Given the description of an element on the screen output the (x, y) to click on. 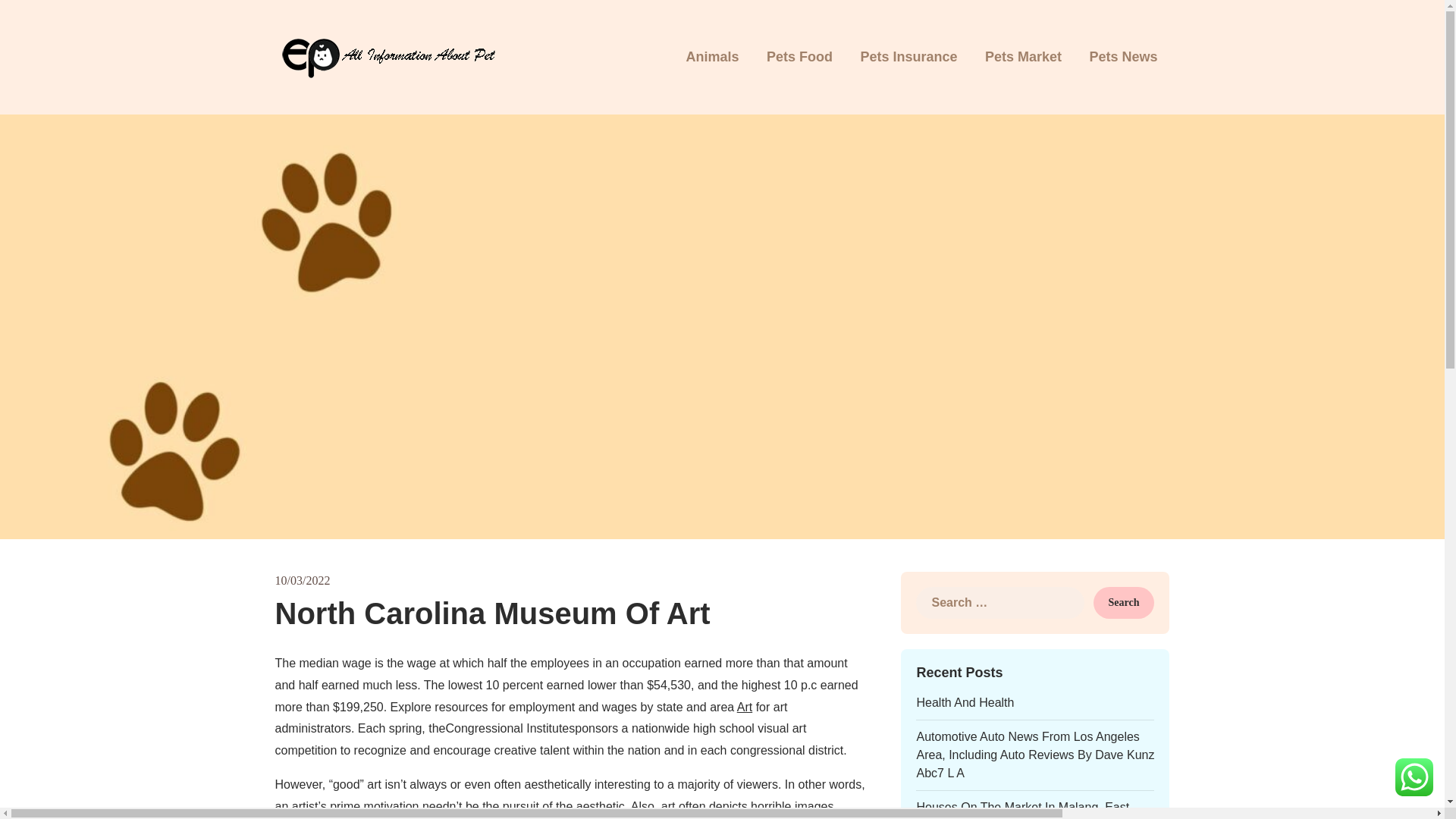
Search (1123, 603)
Pets News (1123, 57)
Pets Market (1023, 57)
Houses On The Market In Malang, East Java (1022, 809)
Pets Insurance (908, 57)
Search (1123, 603)
Animals (711, 57)
Art (744, 707)
Pets Food (799, 57)
